Given the description of an element on the screen output the (x, y) to click on. 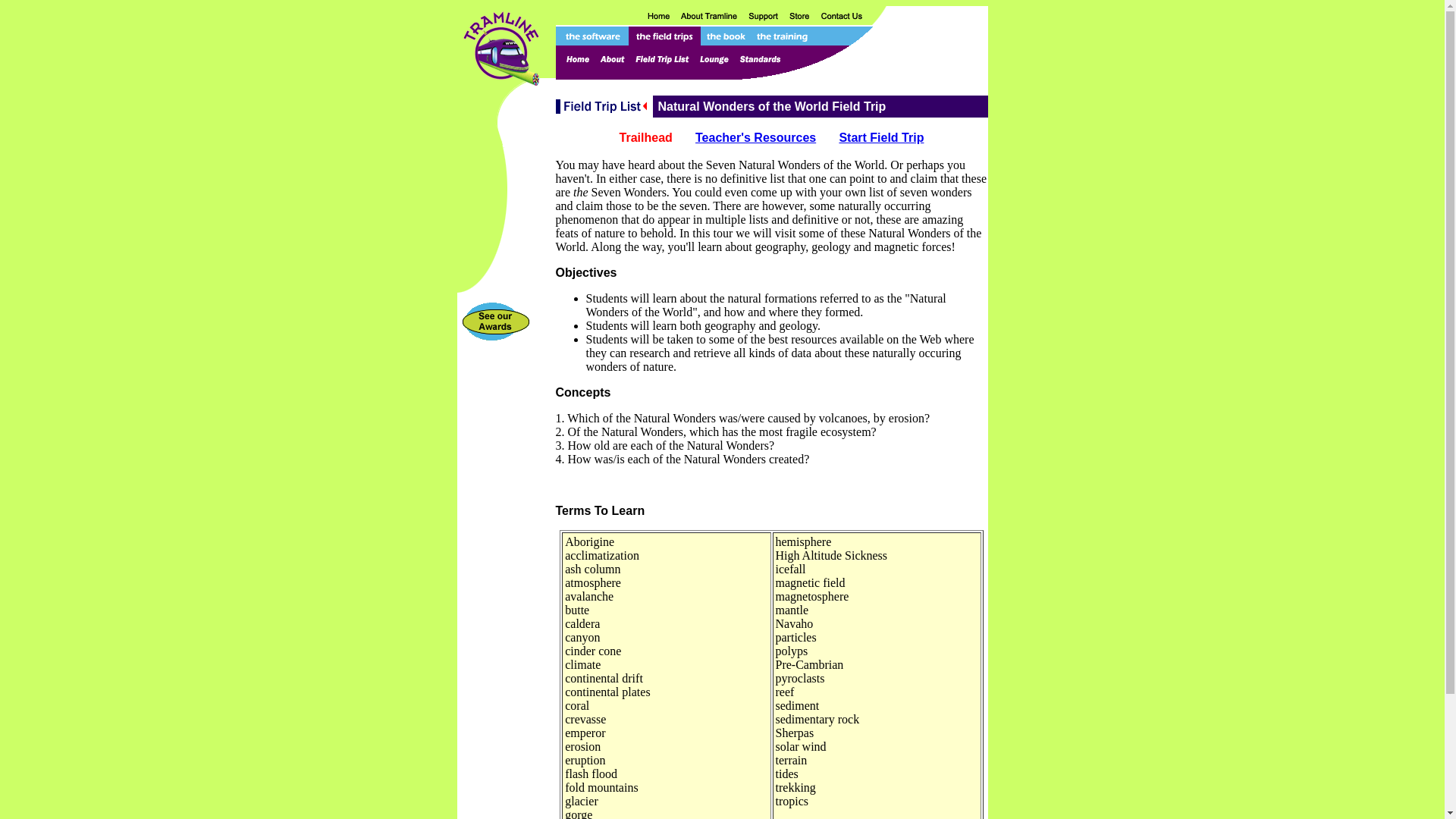
Start Field Trip (880, 137)
Teacher's Resources (755, 137)
